Given the description of an element on the screen output the (x, y) to click on. 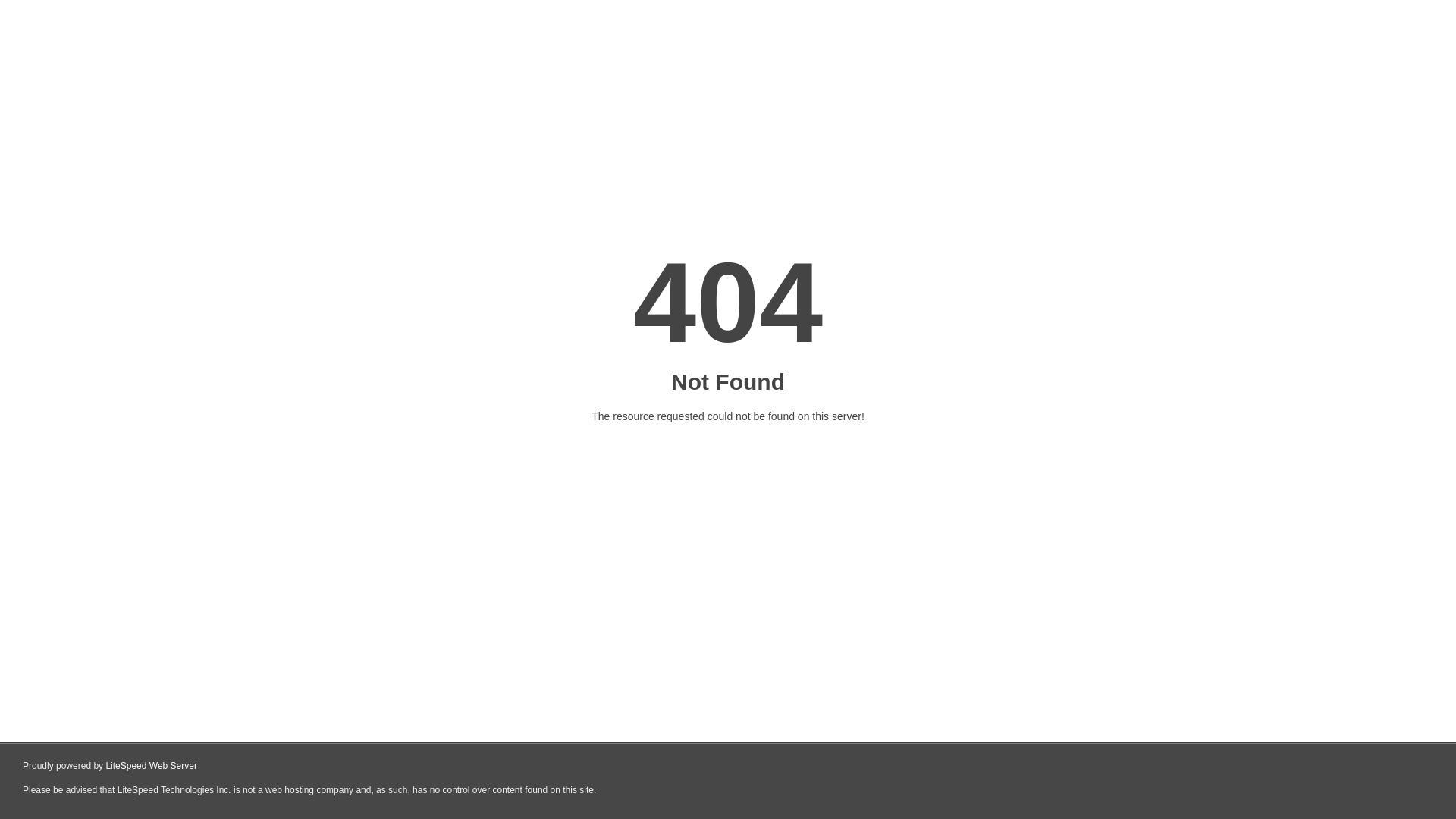
LiteSpeed Web Server Element type: text (151, 765)
